Given the description of an element on the screen output the (x, y) to click on. 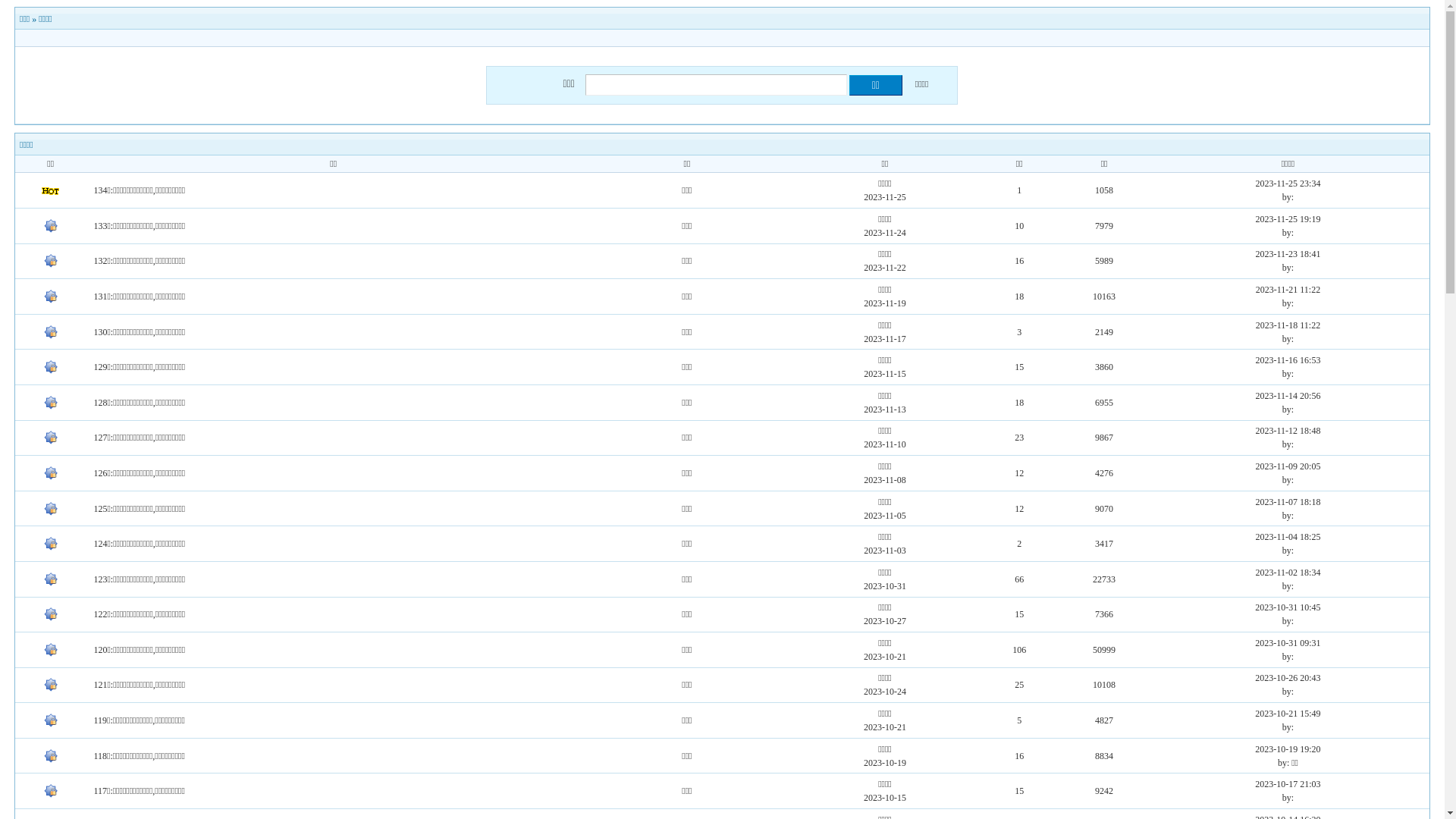
2023-11-07 18:18 Element type: text (1288, 501)
2023-11-04 18:25 Element type: text (1288, 536)
2023-11-25 23:34 Element type: text (1288, 183)
2023-11-25 19:19 Element type: text (1288, 218)
2023-11-21 11:22 Element type: text (1287, 289)
2023-10-26 20:43 Element type: text (1287, 677)
2023-11-09 20:05 Element type: text (1288, 466)
2023-11-18 11:22 Element type: text (1287, 325)
2023-11-02 18:34 Element type: text (1288, 572)
2023-10-31 10:45 Element type: text (1287, 607)
2023-11-16 16:53 Element type: text (1288, 359)
2023-10-21 15:49 Element type: text (1287, 713)
2023-10-17 21:03 Element type: text (1287, 783)
2023-11-14 20:56 Element type: text (1288, 395)
2023-11-12 18:48 Element type: text (1288, 430)
2023-11-23 18:41 Element type: text (1288, 253)
2023-10-31 09:31 Element type: text (1287, 642)
2023-10-19 19:20 Element type: text (1287, 748)
